Given the description of an element on the screen output the (x, y) to click on. 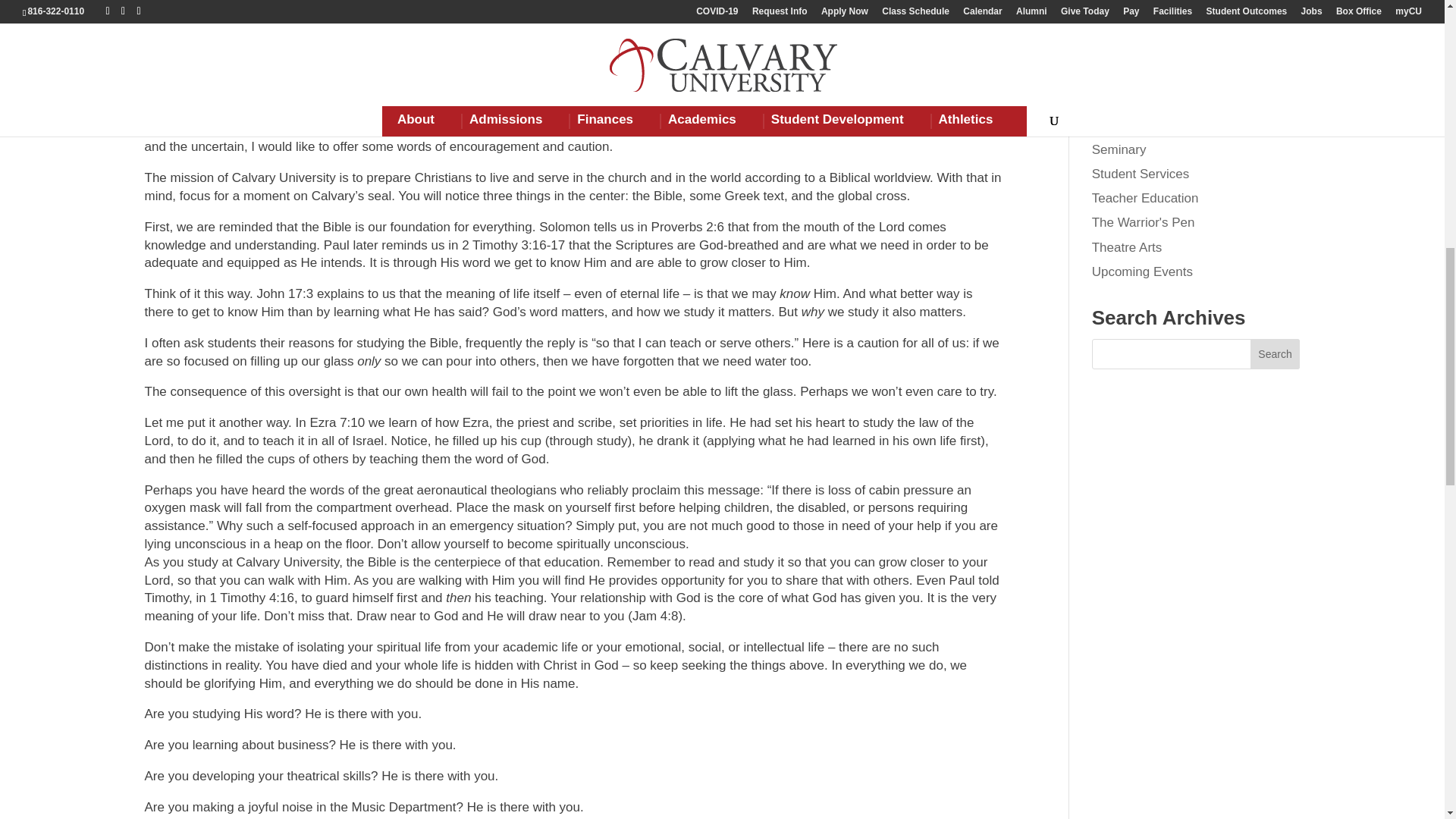
Search (1275, 354)
